Given the description of an element on the screen output the (x, y) to click on. 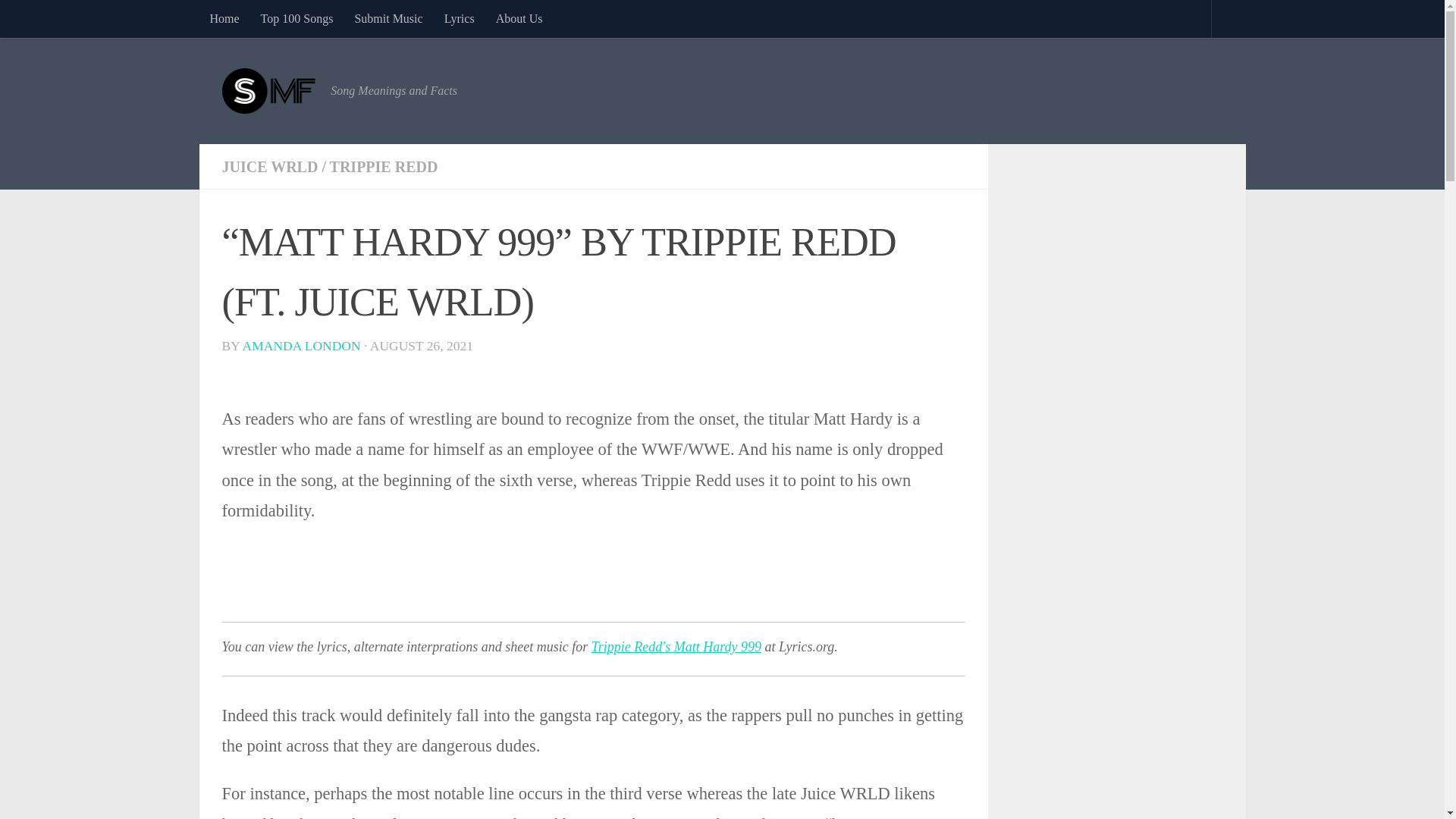
AMANDA LONDON (302, 345)
Top 100 Songs (296, 18)
About Us (518, 18)
TRIPPIE REDD (384, 166)
Submit Music (387, 18)
JUICE WRLD (269, 166)
Trippie Redd's Matt Hardy 999 (676, 646)
Home (223, 18)
Posts by Amanda London (302, 345)
Lyrics (458, 18)
